Given the description of an element on the screen output the (x, y) to click on. 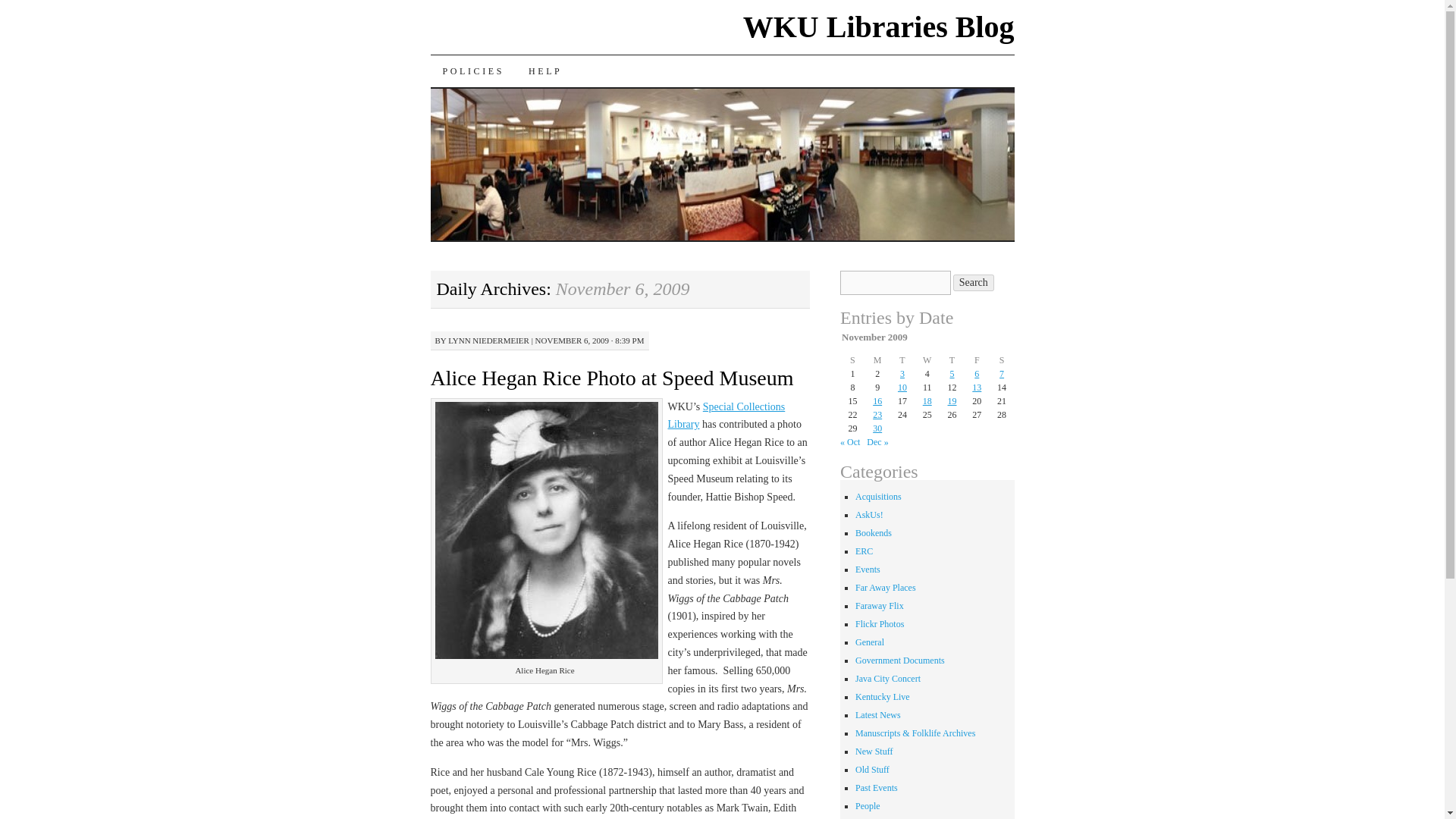
General (869, 642)
Tuesday (902, 359)
Far Away Places (885, 587)
HELP (544, 70)
Search (973, 282)
Events (868, 569)
Government Documents (900, 660)
Faraway Flix (880, 605)
AskUs! (869, 514)
POLICIES (473, 70)
